Given the description of an element on the screen output the (x, y) to click on. 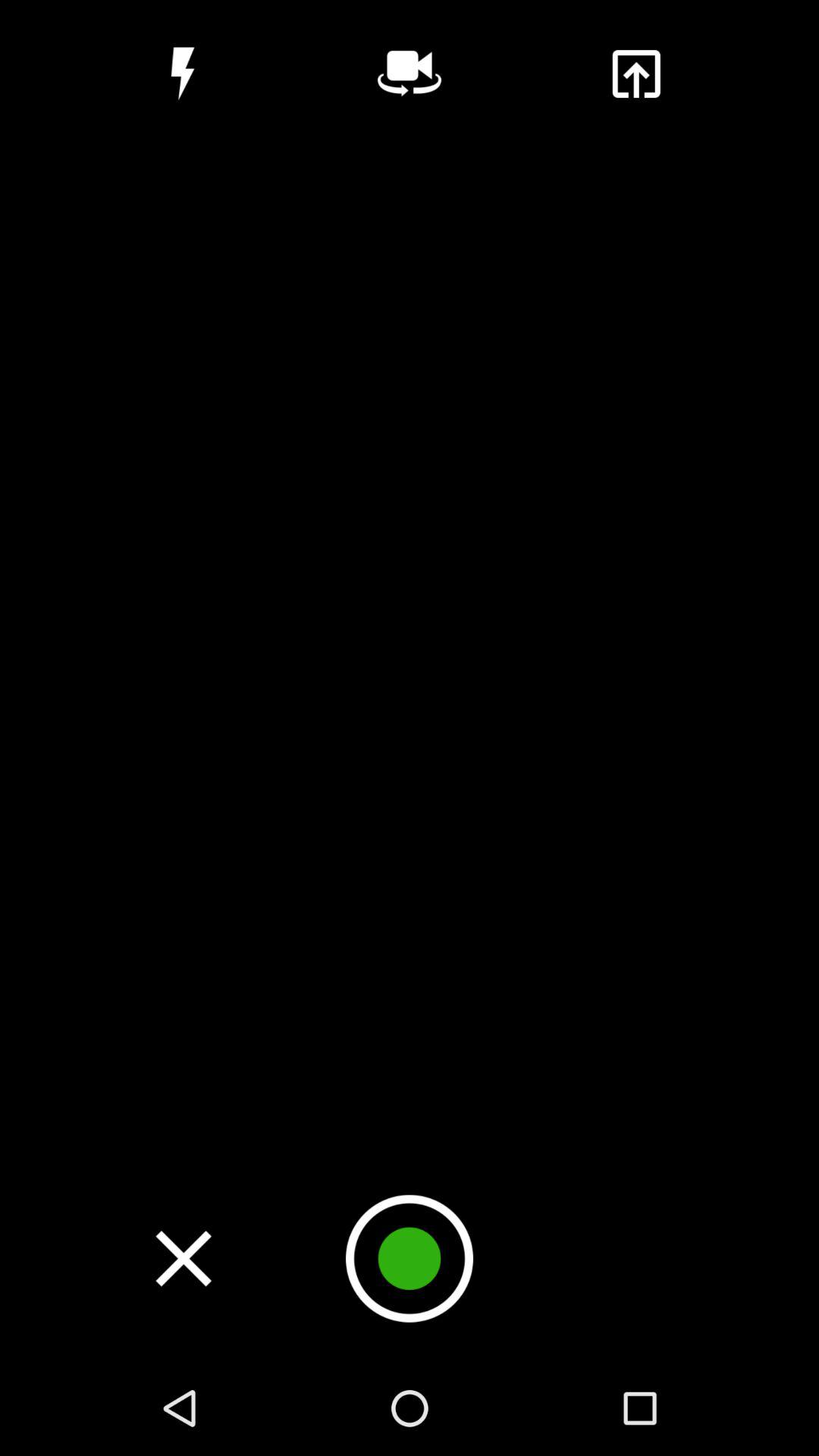
open item at the bottom left corner (183, 1258)
